Given the description of an element on the screen output the (x, y) to click on. 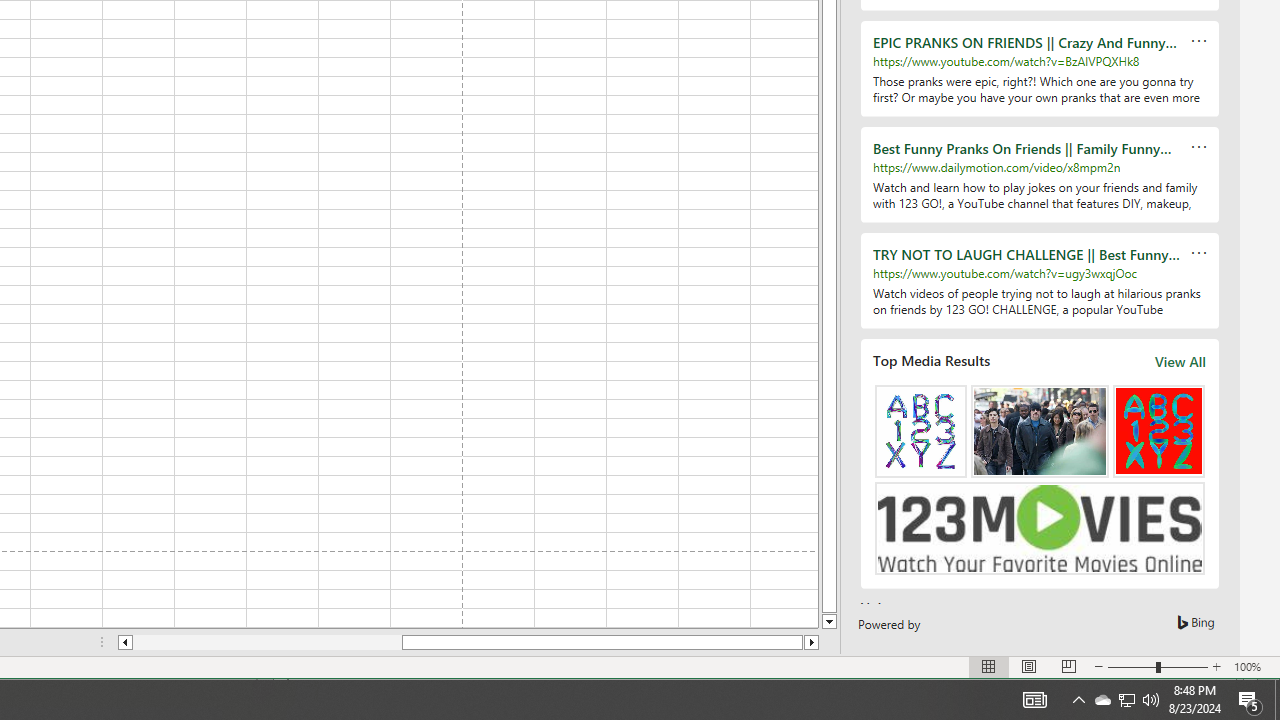
AutomationID: 4105 (1034, 699)
Notification Chevron (1078, 699)
User Promoted Notification Area (1126, 699)
